Given the description of an element on the screen output the (x, y) to click on. 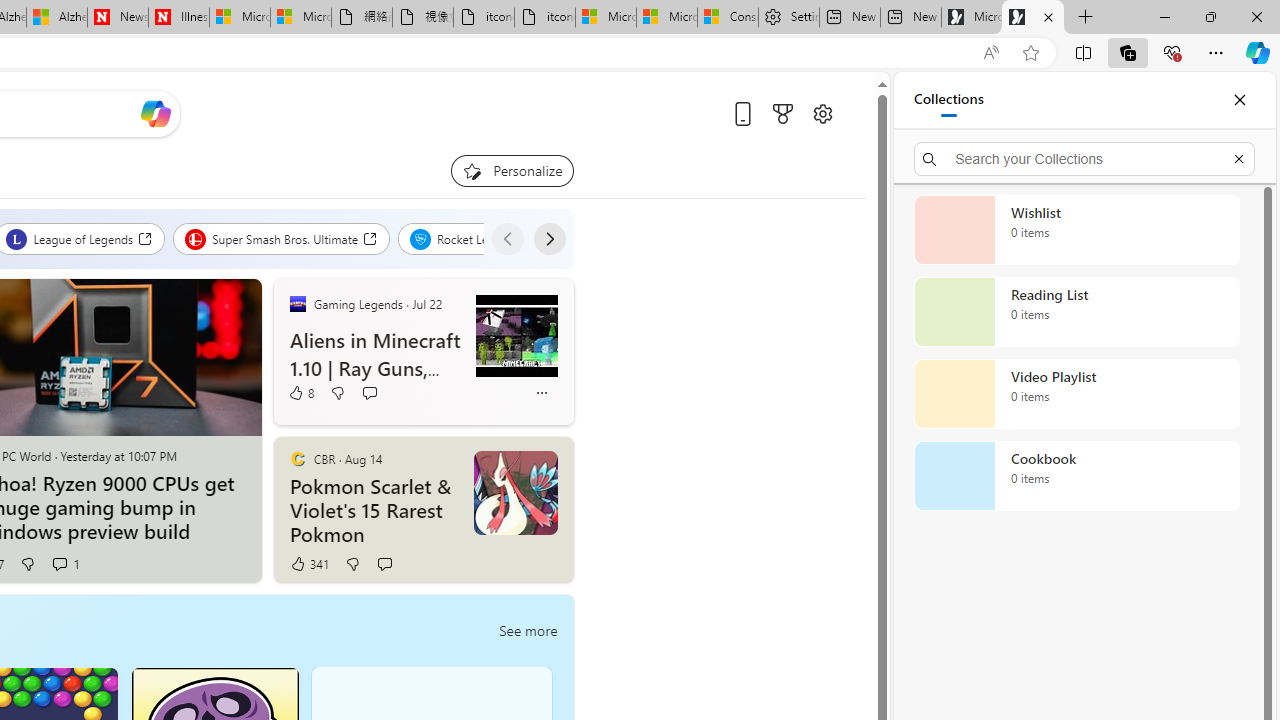
Wishlist collection, 0 items (1076, 229)
View comments 1 Comment (59, 563)
Gaming Legends (297, 303)
Search your Collections (1084, 158)
Newsweek - News, Analysis, Politics, Business, Technology (118, 17)
Cookbook collection, 0 items (1076, 475)
